Given the description of an element on the screen output the (x, y) to click on. 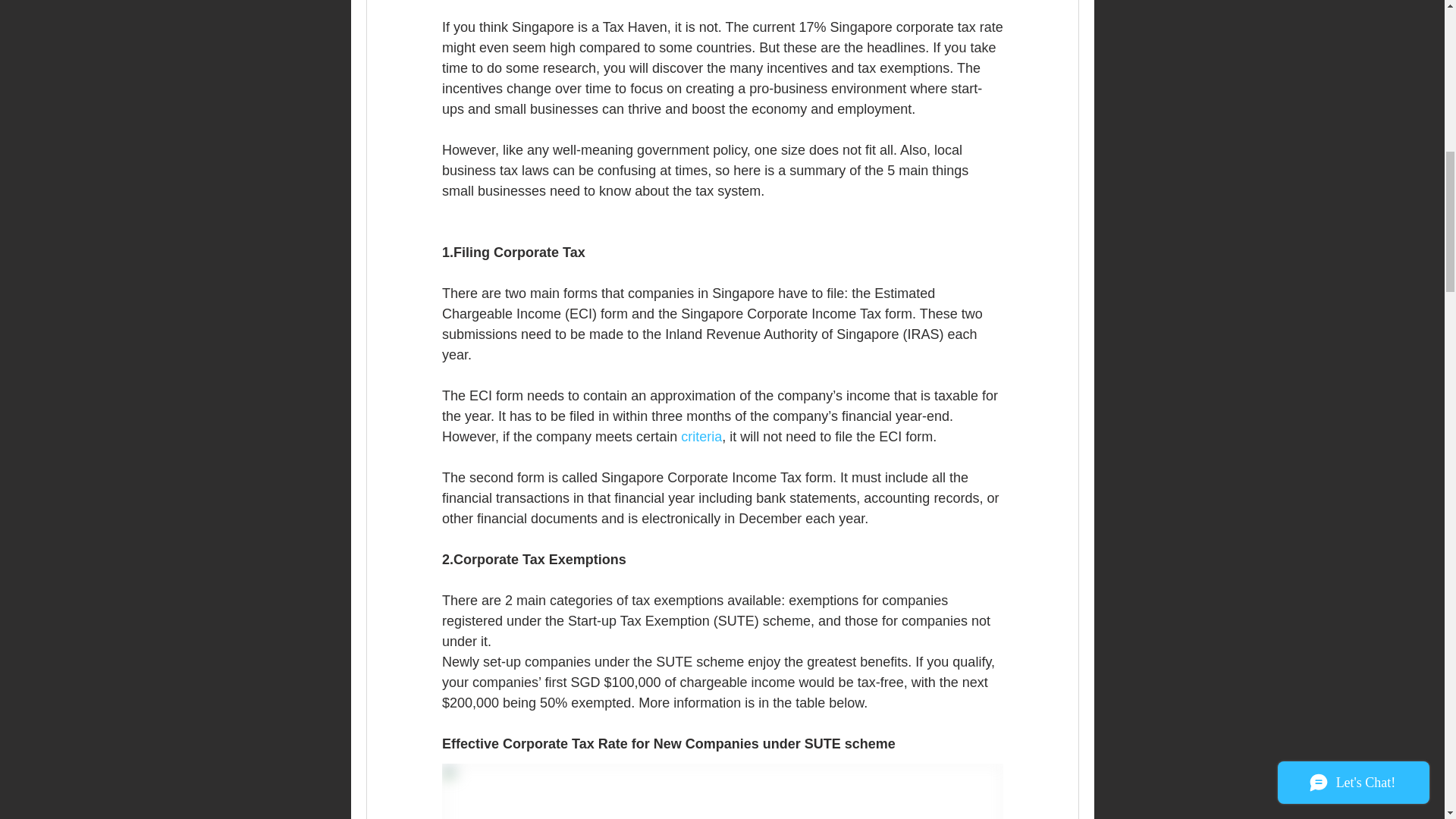
criteria (701, 436)
